Given the description of an element on the screen output the (x, y) to click on. 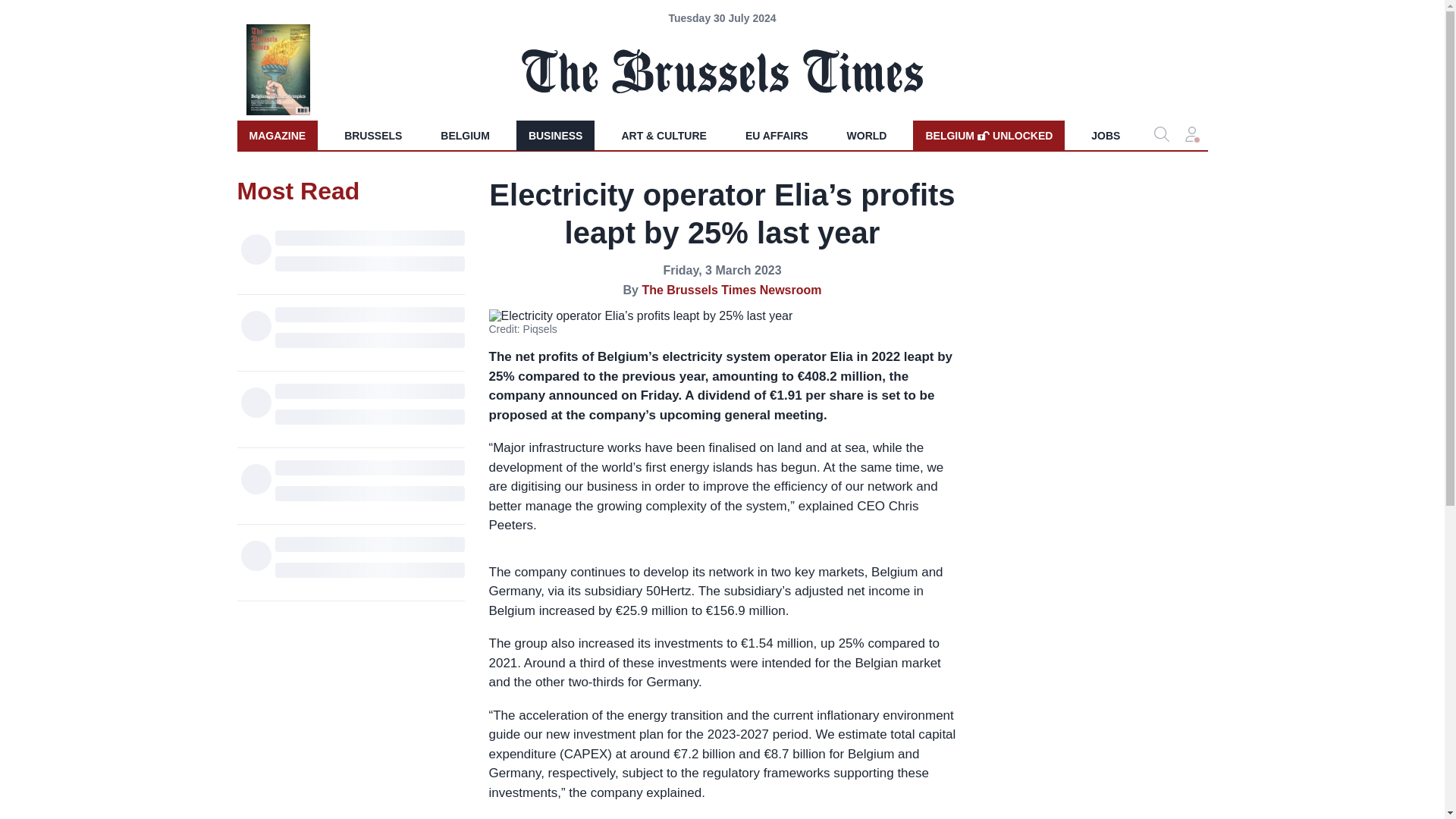
BUSINESS (555, 135)
EU AFFAIRS (777, 135)
MAGAZINE (988, 135)
JOBS (276, 135)
BRUSSELS (1105, 135)
WORLD (372, 135)
BELGIUM (866, 135)
